Given the description of an element on the screen output the (x, y) to click on. 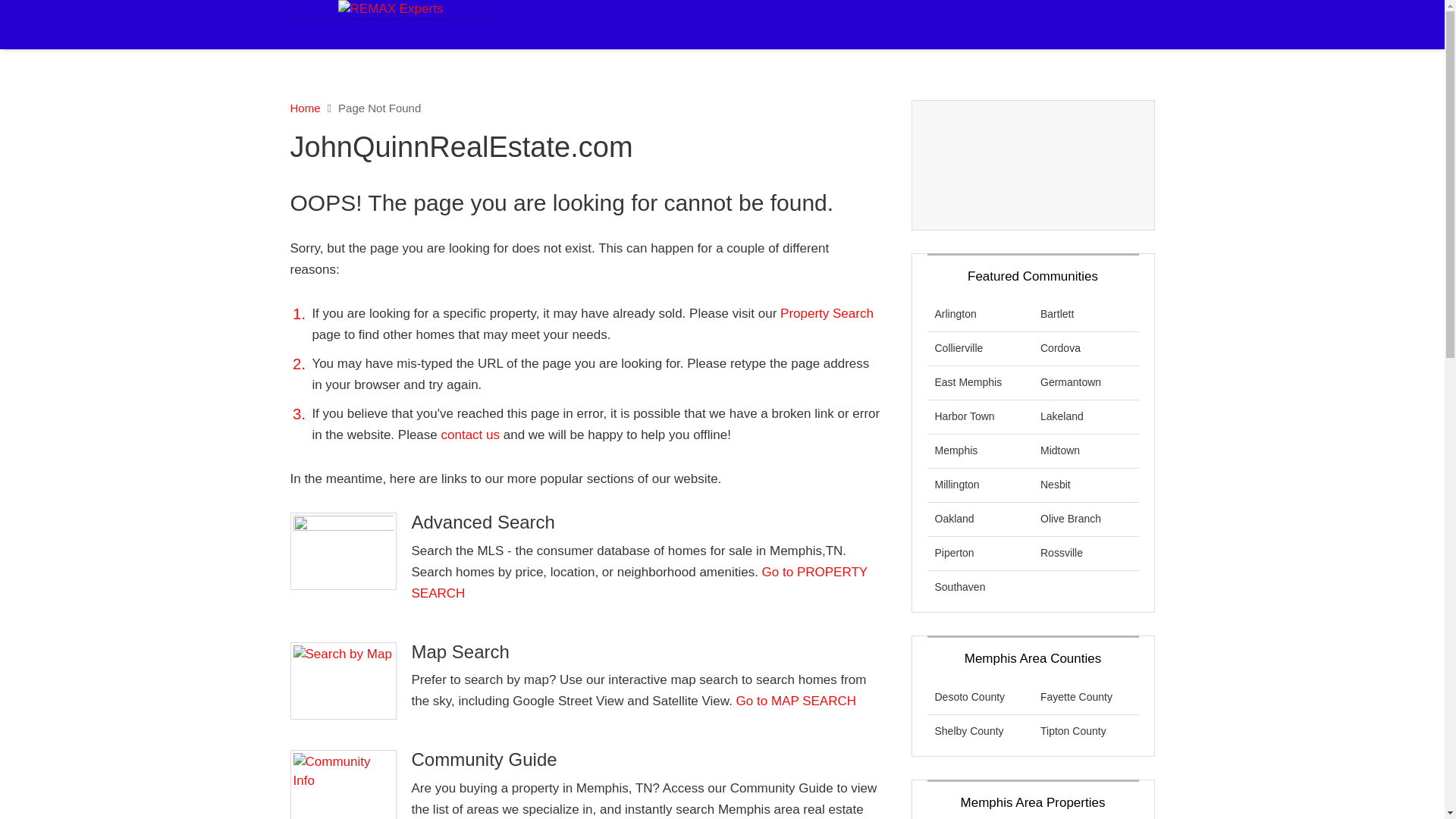
Search the MLS by Map (796, 700)
Search by map (342, 680)
Search the MLS (638, 582)
Contact Us (472, 434)
Search the MLS (826, 313)
